Given the description of an element on the screen output the (x, y) to click on. 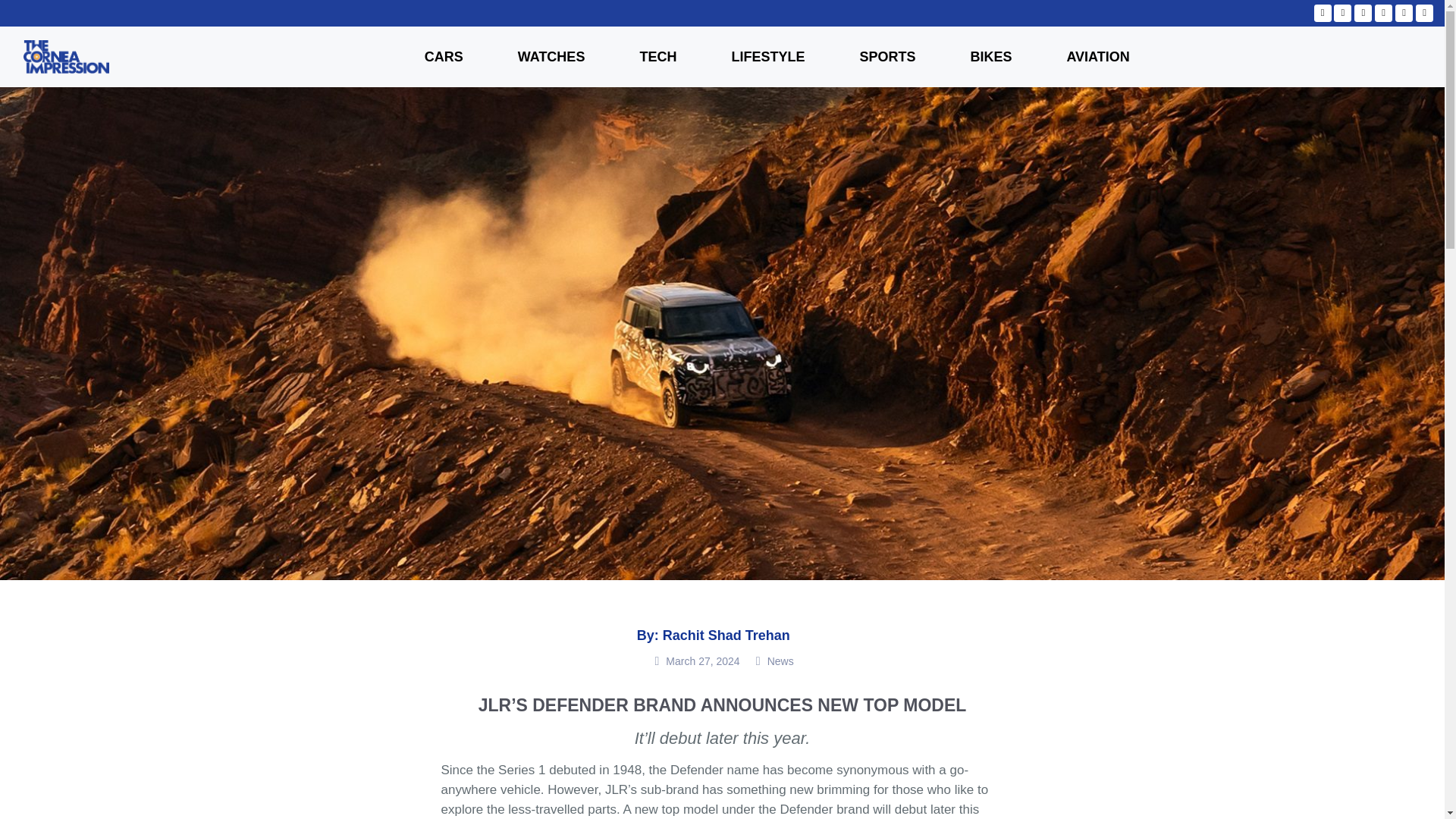
TECH (657, 56)
Twitter (1363, 12)
WATCHES (551, 56)
Twitter (1362, 13)
BIKES (990, 56)
SPORTS (886, 56)
Facebook (1383, 12)
Email (1423, 13)
AVIATION (1097, 56)
Facebook (1382, 13)
Discord (1404, 12)
Instagram (1342, 12)
LIFESTYLE (767, 56)
CARS (443, 56)
Youtube (1323, 13)
